Given the description of an element on the screen output the (x, y) to click on. 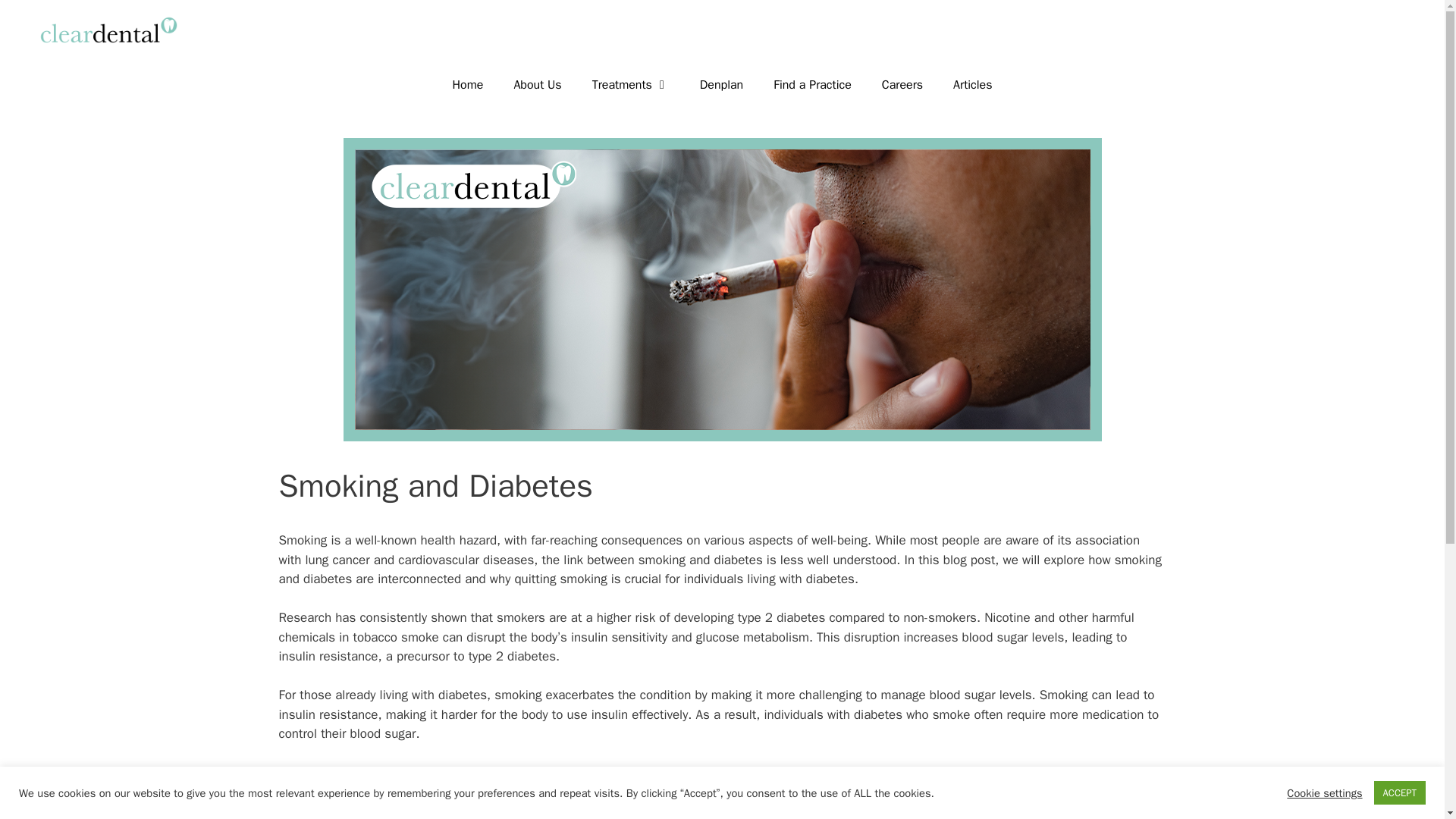
Articles (972, 84)
Find a Practice (812, 84)
Careers (901, 84)
Home (466, 84)
ACCEPT (1399, 792)
Denplan (721, 84)
About Us (536, 84)
Cookie settings (1324, 792)
Treatments (630, 84)
